Given the description of an element on the screen output the (x, y) to click on. 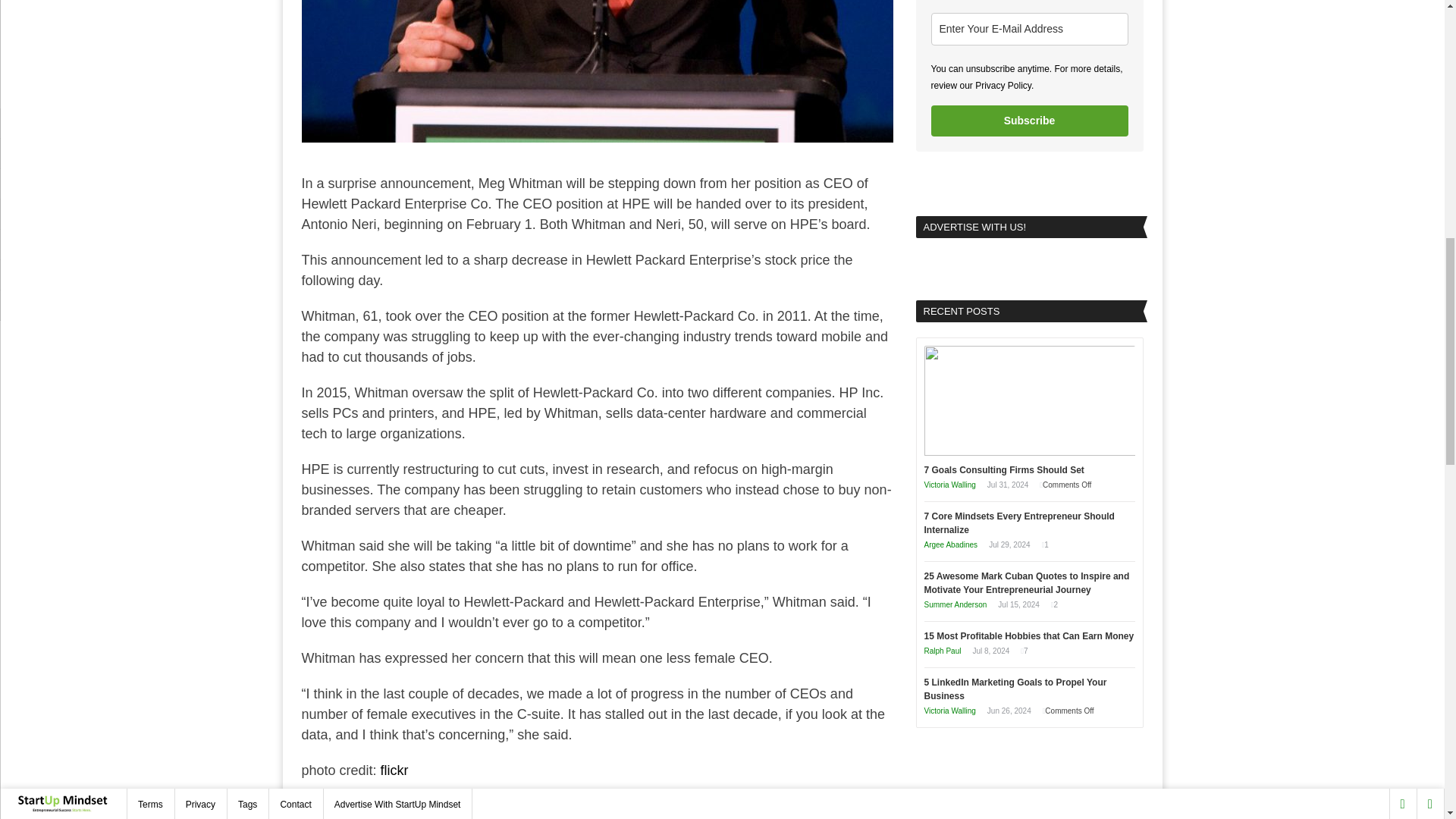
flick (392, 770)
Posts by Summer Anderson (955, 604)
Posts by Victoria Walling (949, 484)
Posts by Argee Abadines (949, 544)
cc (308, 806)
Posts by Victoria Walling (949, 710)
Posts by Ralph Paul (941, 651)
